Given the description of an element on the screen output the (x, y) to click on. 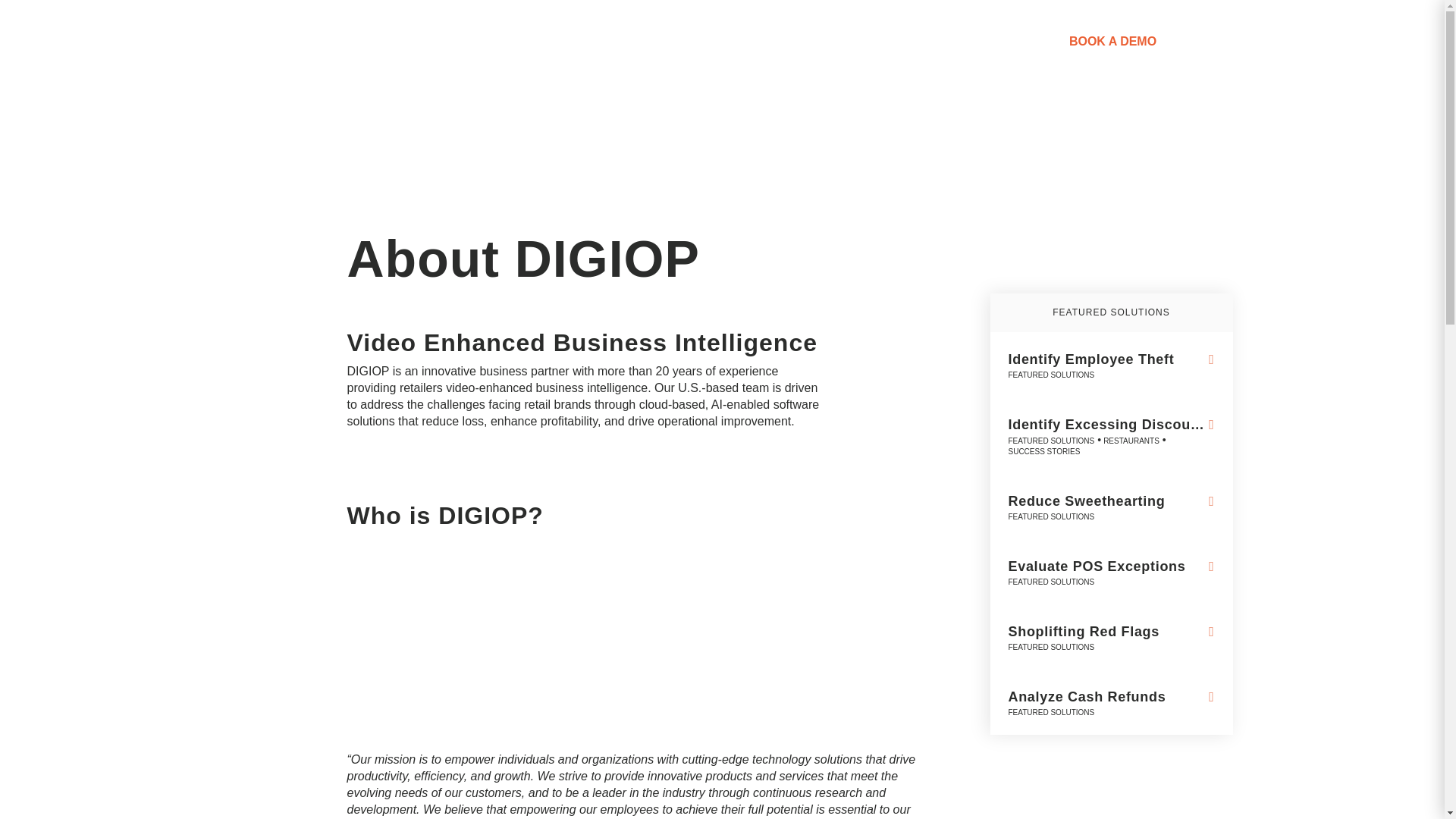
INDUSTRIES (647, 41)
Support (890, 41)
Industries (647, 41)
DIGIOP (325, 73)
Products (552, 41)
Resource Library (773, 41)
PRODUCTS (552, 41)
